Given the description of an element on the screen output the (x, y) to click on. 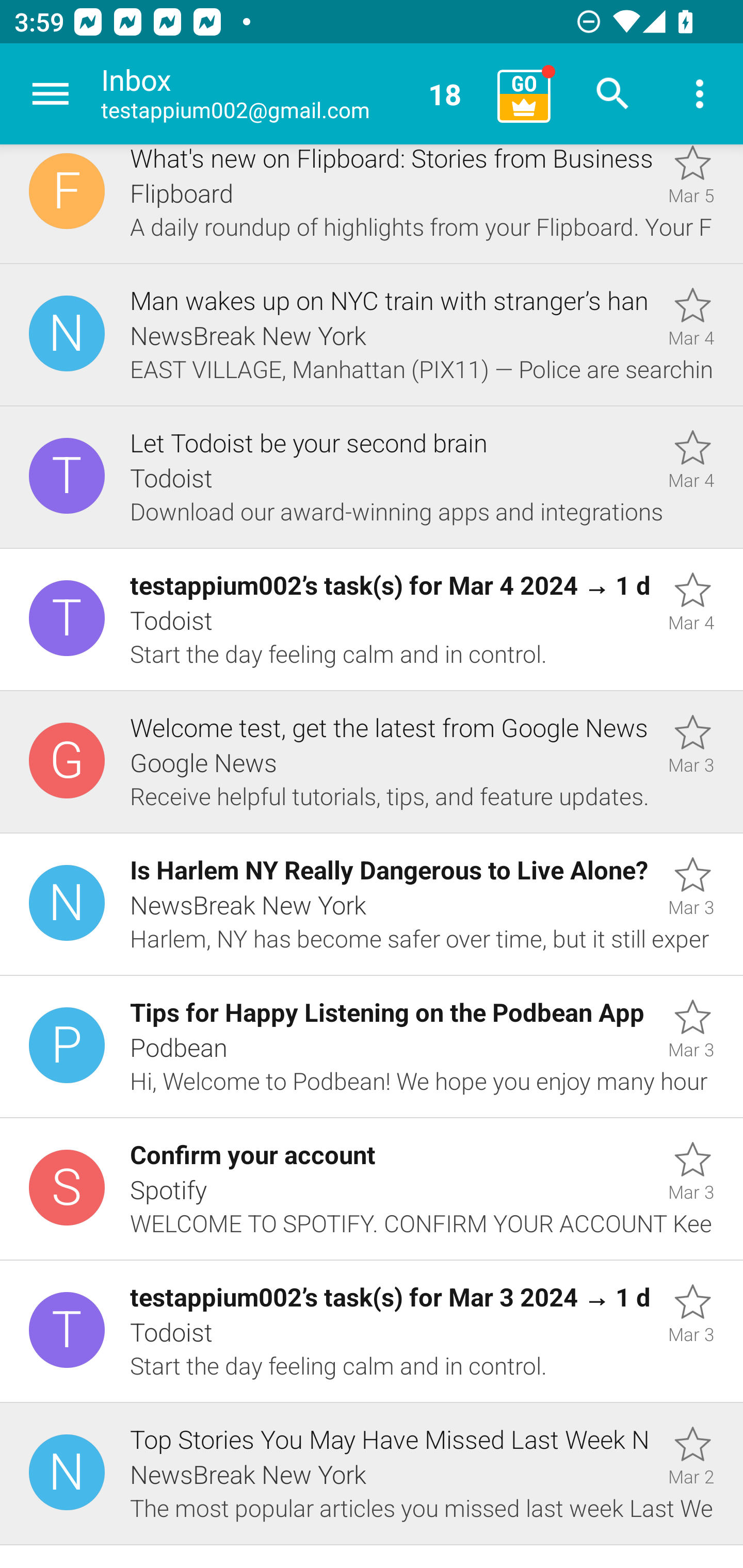
Navigate up (50, 93)
Inbox testappium002@gmail.com 18 (291, 93)
Search (612, 93)
More options (699, 93)
